Given the description of an element on the screen output the (x, y) to click on. 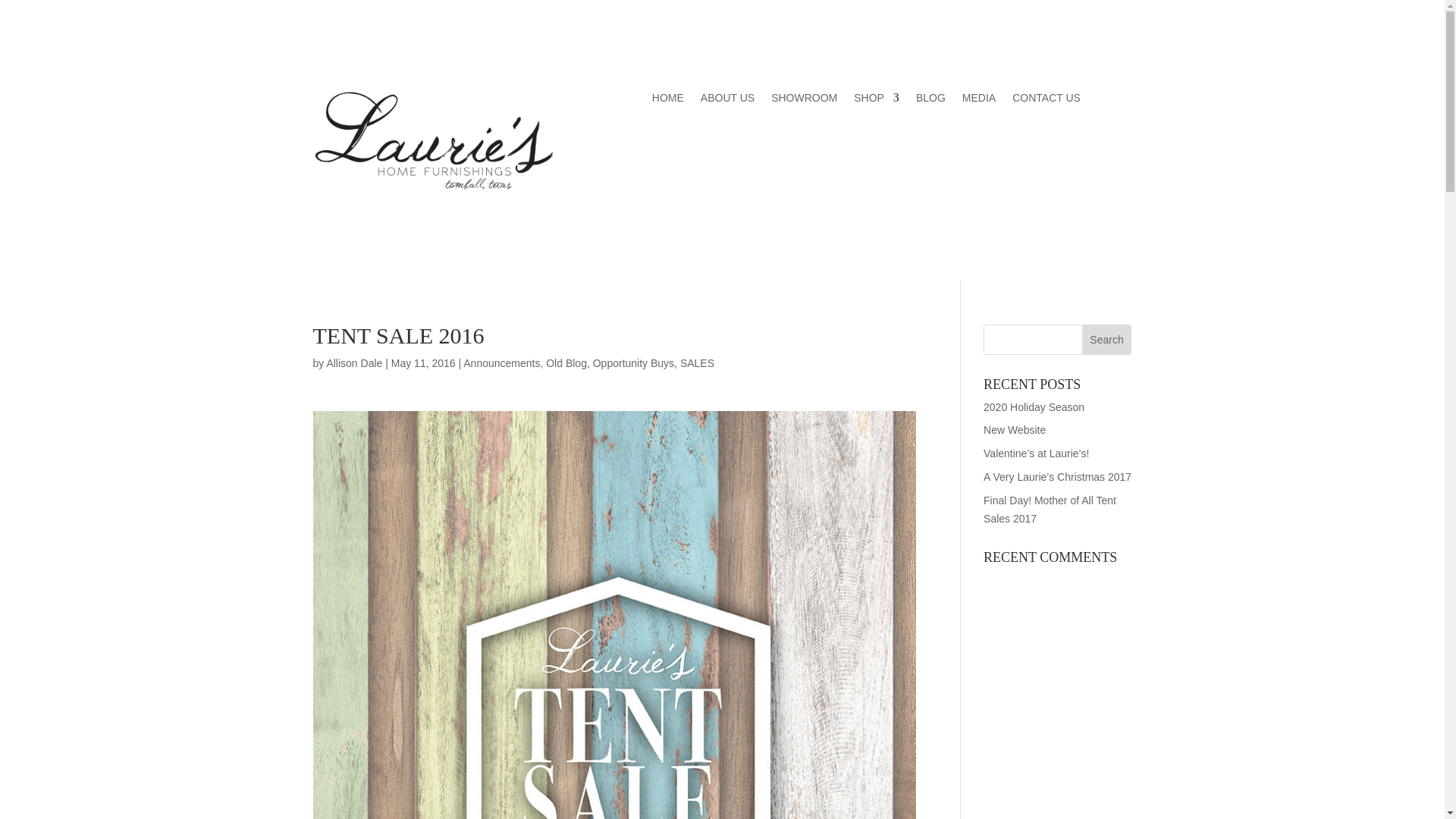
ABOUT US (727, 100)
SHOP (876, 100)
CONTACT US (1045, 100)
SHOWROOM (804, 100)
Opportunity Buys (633, 363)
Old Blog (566, 363)
HOME (668, 100)
Allison Dale (353, 363)
MEDIA (978, 100)
BLOG (929, 100)
